Given the description of an element on the screen output the (x, y) to click on. 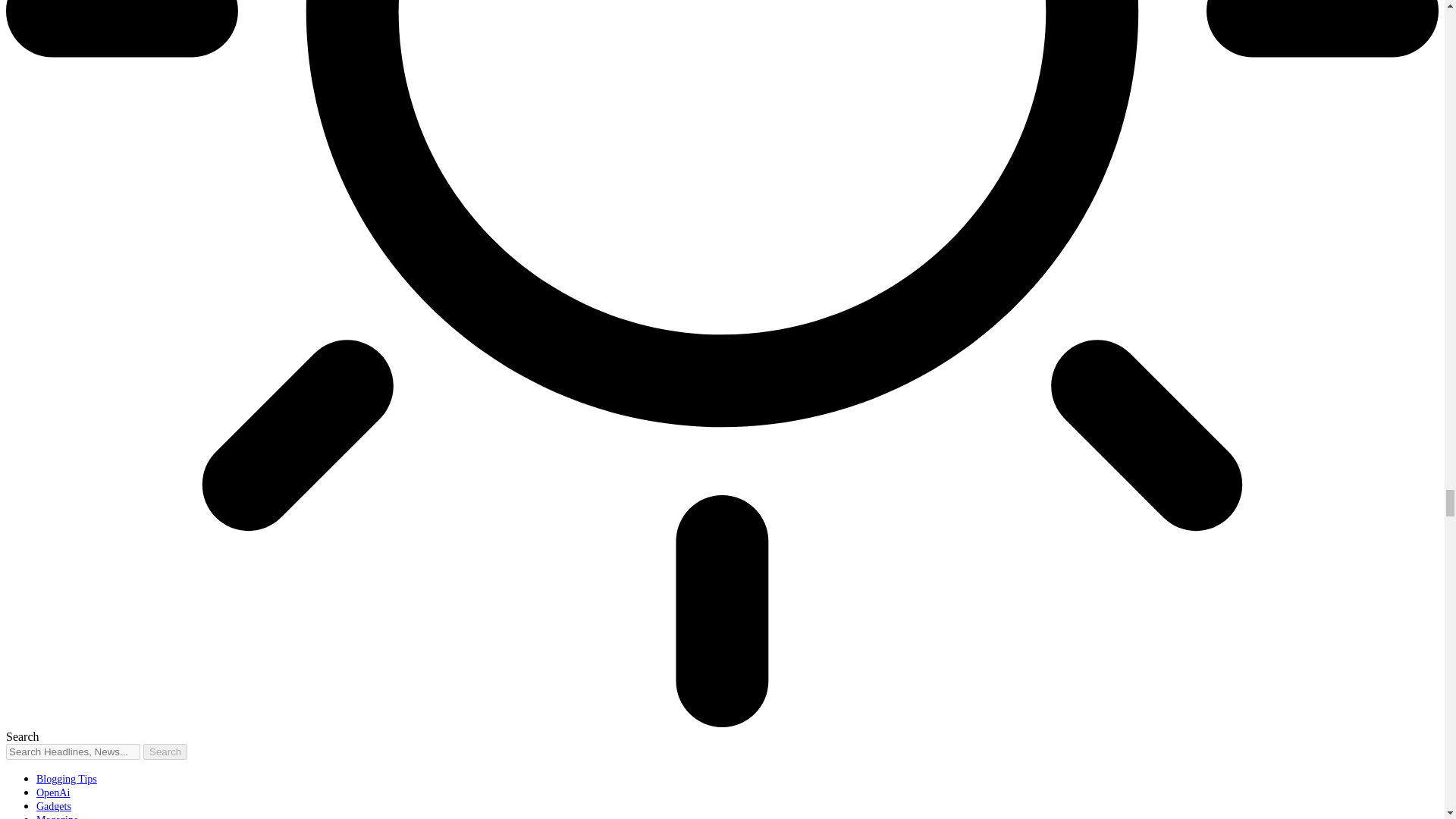
Search (164, 751)
